Given the description of an element on the screen output the (x, y) to click on. 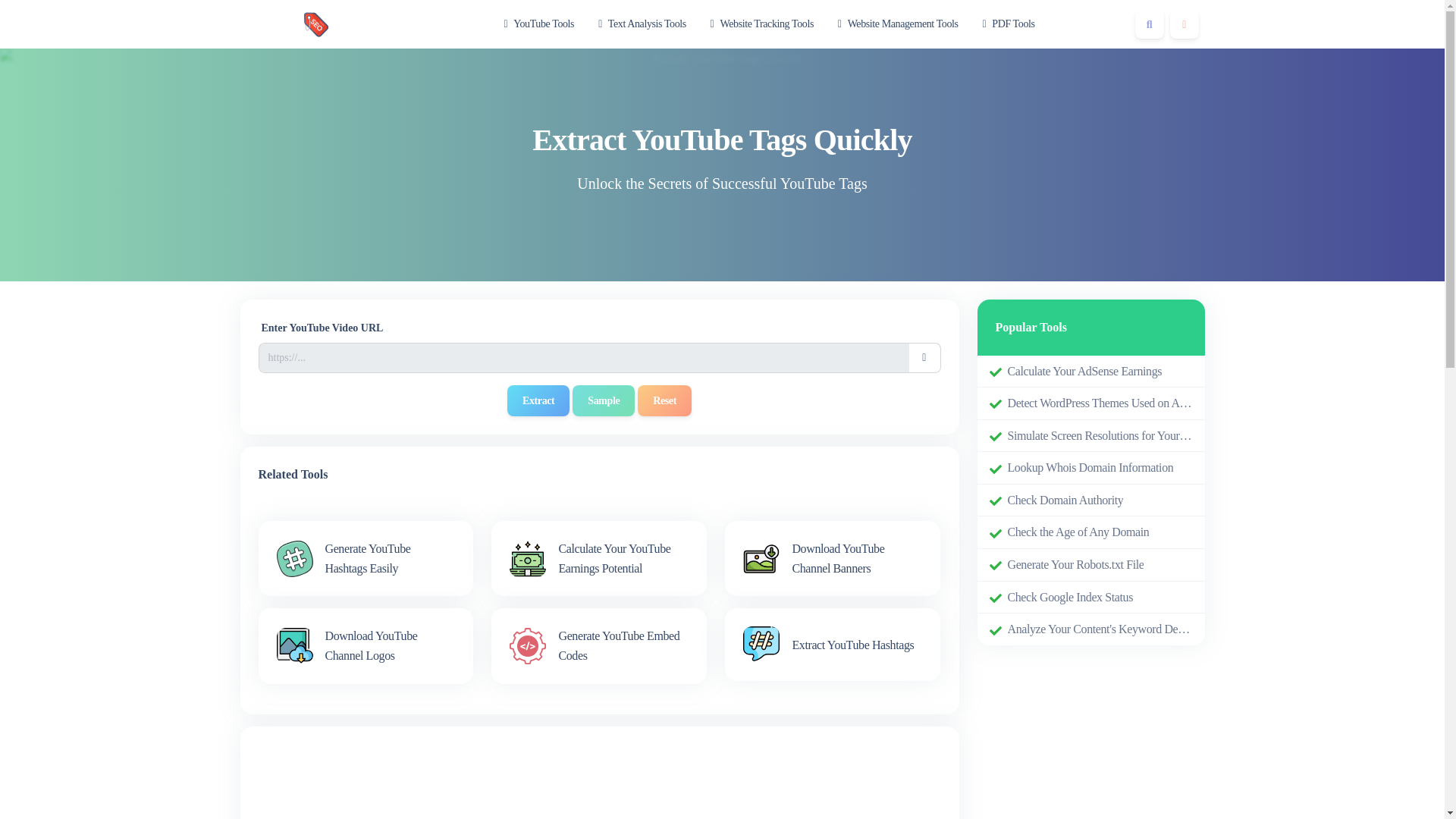
Generate YouTube Hashtags Easily (365, 558)
SEO Web (315, 23)
Lookup Whois Domain Information (1090, 467)
Generate YouTube Embed Codes (599, 645)
Generate Your Robots.txt File (1074, 564)
Check Domain Authority (1064, 500)
Check Google Index Status (1069, 597)
Detect WordPress Themes Used on Any Website  (1099, 403)
Reset (664, 400)
Analyze Your Content's Keyword Density  (1099, 629)
Generate Your Robots.txt File (1074, 564)
Text Analysis Tools (642, 23)
Website Tracking Tools (761, 23)
PDF Tools (1008, 23)
Check Domain Authority (1064, 500)
